Given the description of an element on the screen output the (x, y) to click on. 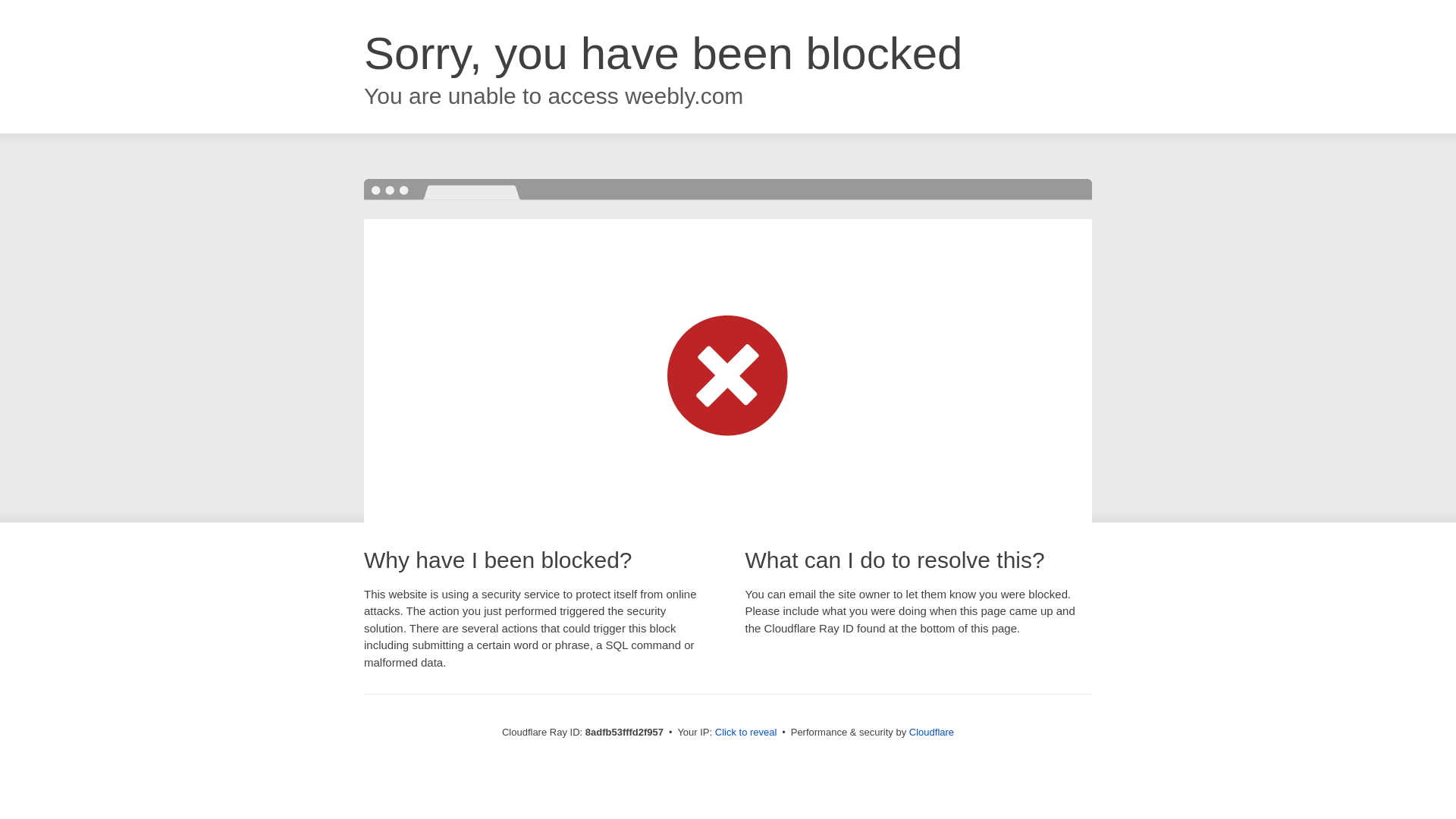
Cloudflare (930, 731)
Click to reveal (745, 732)
